Given the description of an element on the screen output the (x, y) to click on. 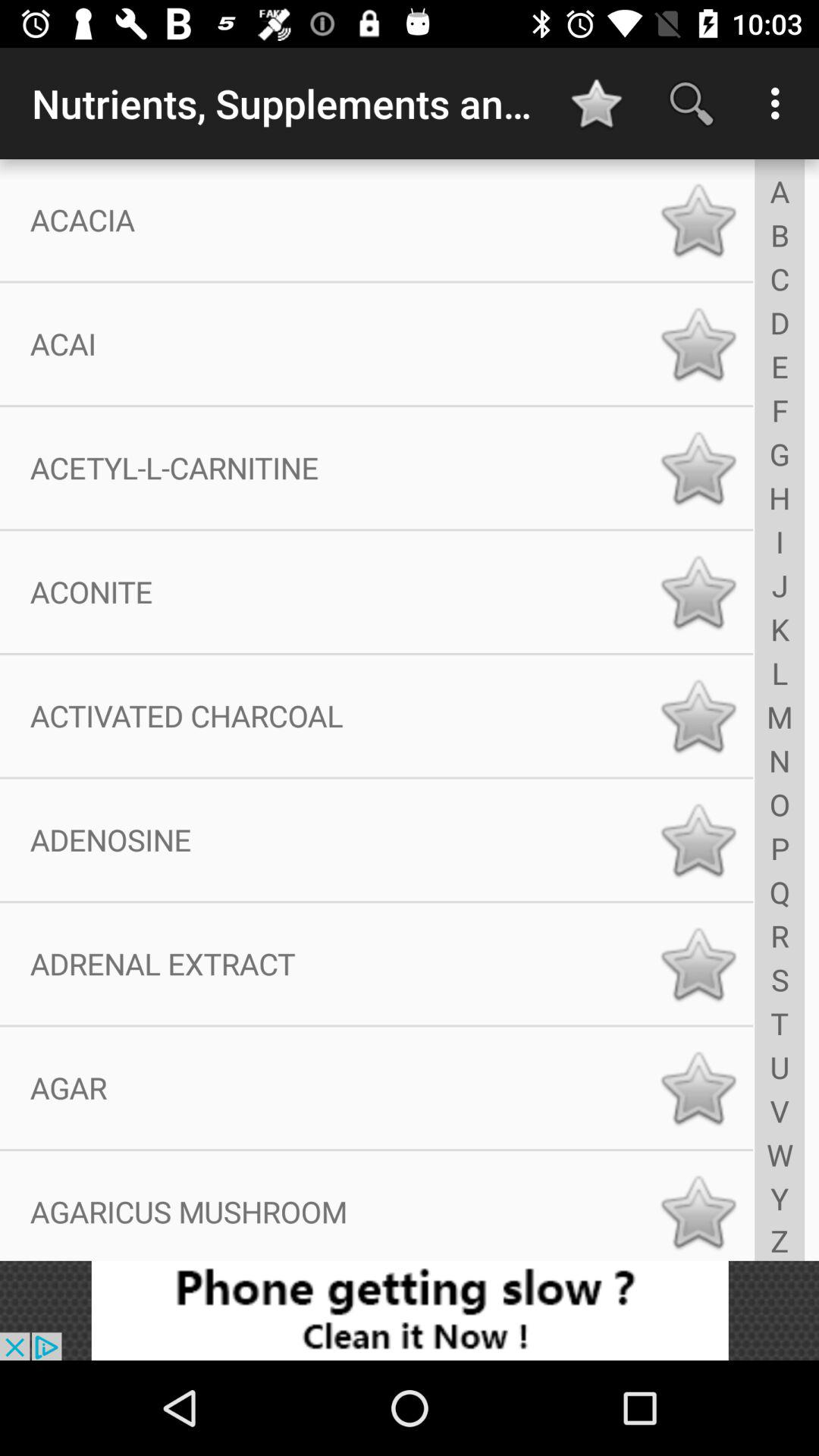
favorite adrenal extract (697, 963)
